Given the description of an element on the screen output the (x, y) to click on. 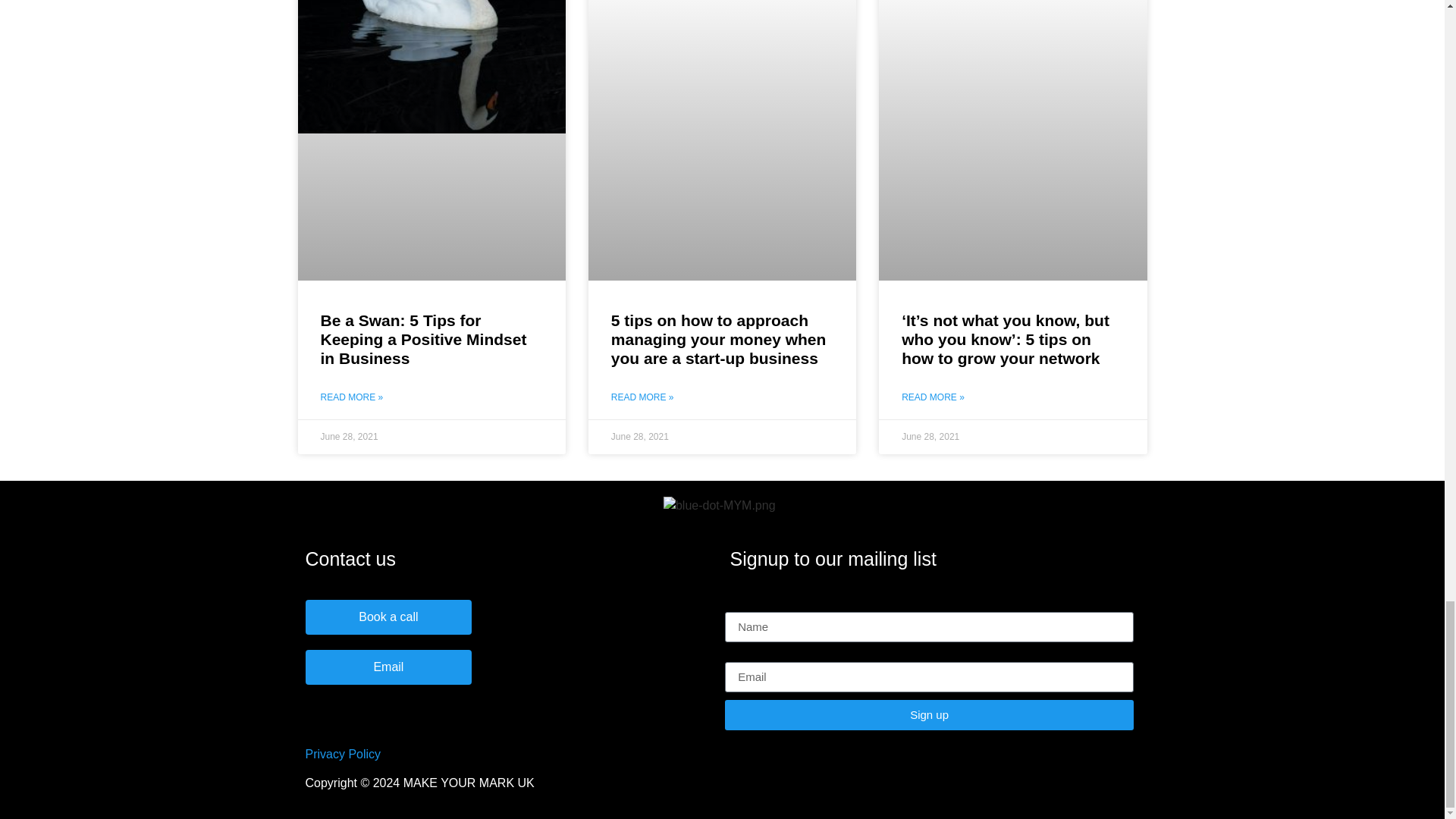
Sign up (929, 715)
Be a Swan: 5 Tips for Keeping a Positive Mindset in Business (422, 339)
Book a call (387, 616)
blue-dot-MYM.png (719, 505)
Email (387, 667)
Privacy Policy (342, 753)
